Given the description of an element on the screen output the (x, y) to click on. 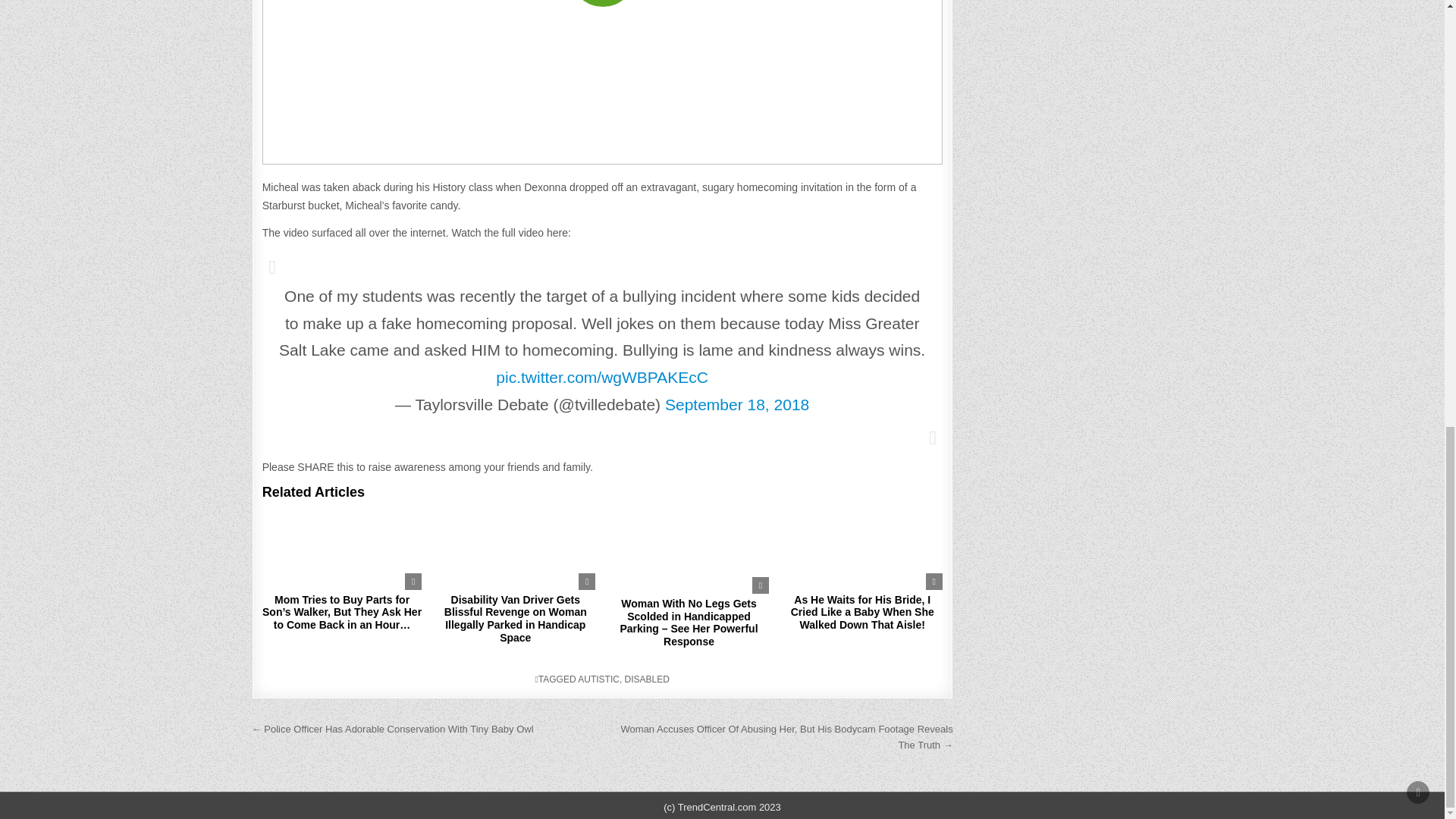
September 18, 2018 (737, 404)
603 Views (579, 518)
578 Views (404, 518)
